Given the description of an element on the screen output the (x, y) to click on. 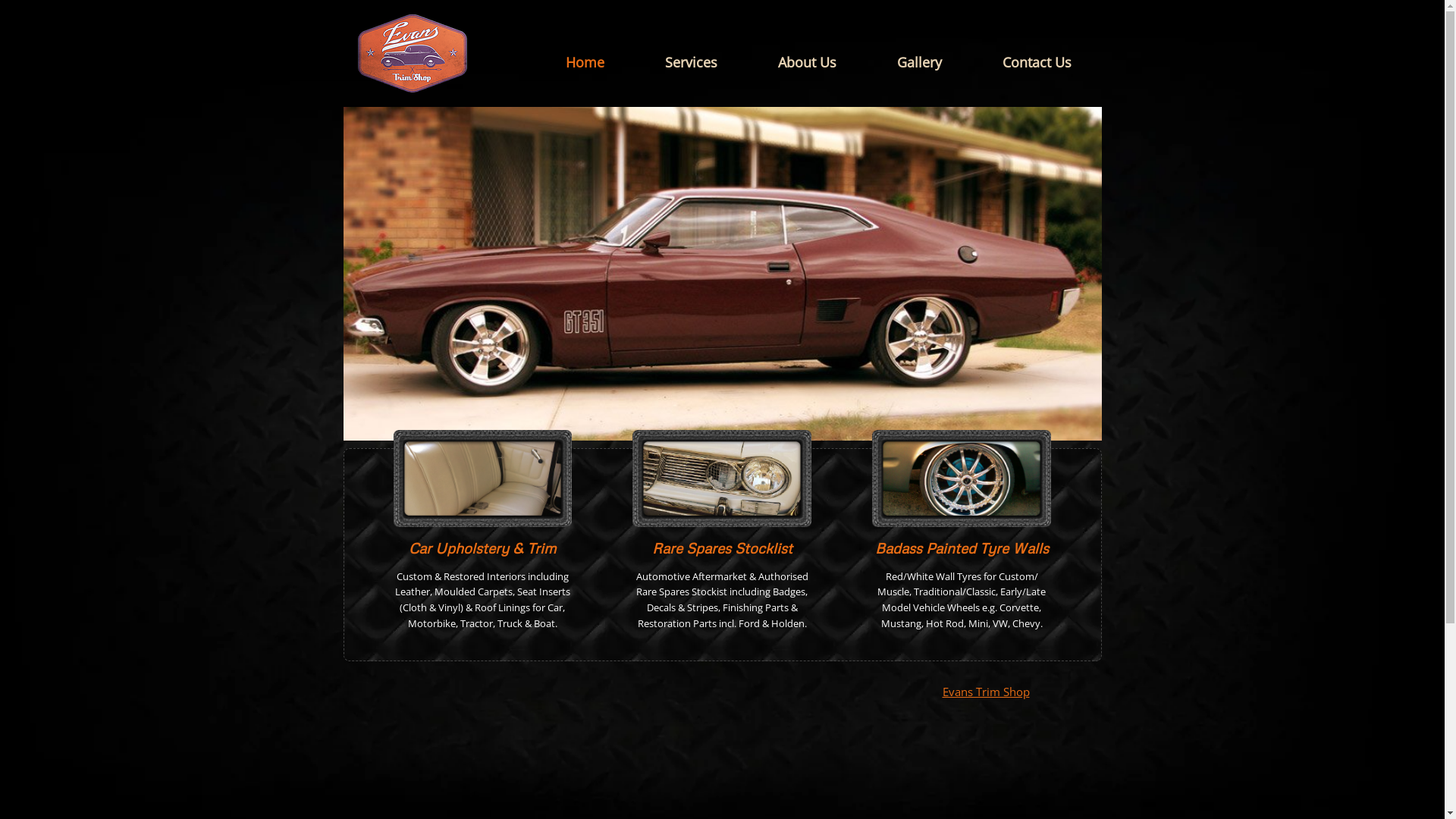
Home Element type: text (584, 61)
Services Element type: text (689, 61)
Gallery Element type: text (918, 61)
Evans Trim Shop Element type: text (985, 691)
Contact Us Element type: text (1036, 61)
About Us Element type: text (806, 61)
